Given the description of an element on the screen output the (x, y) to click on. 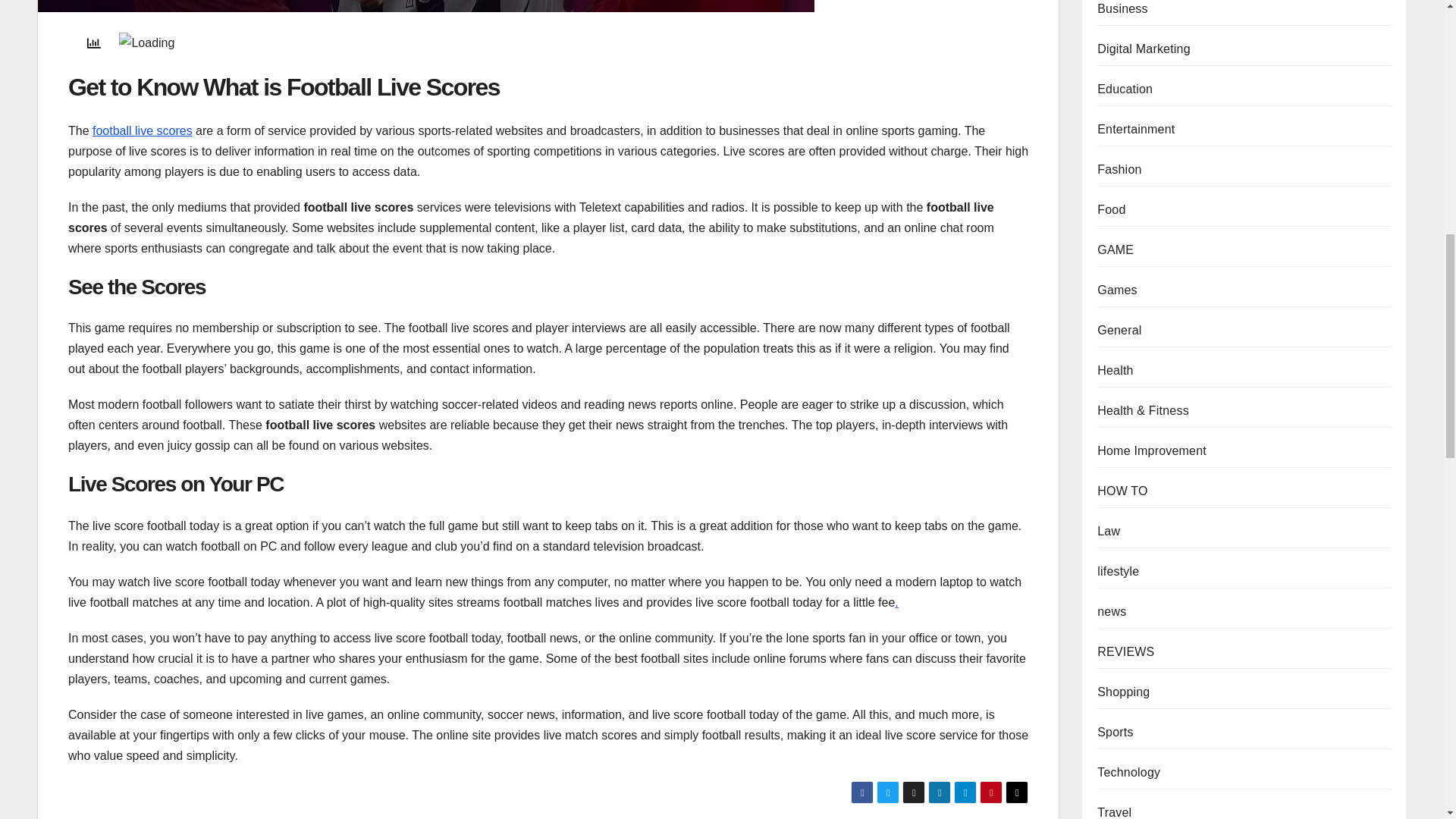
football live scores (142, 130)
